Given the description of an element on the screen output the (x, y) to click on. 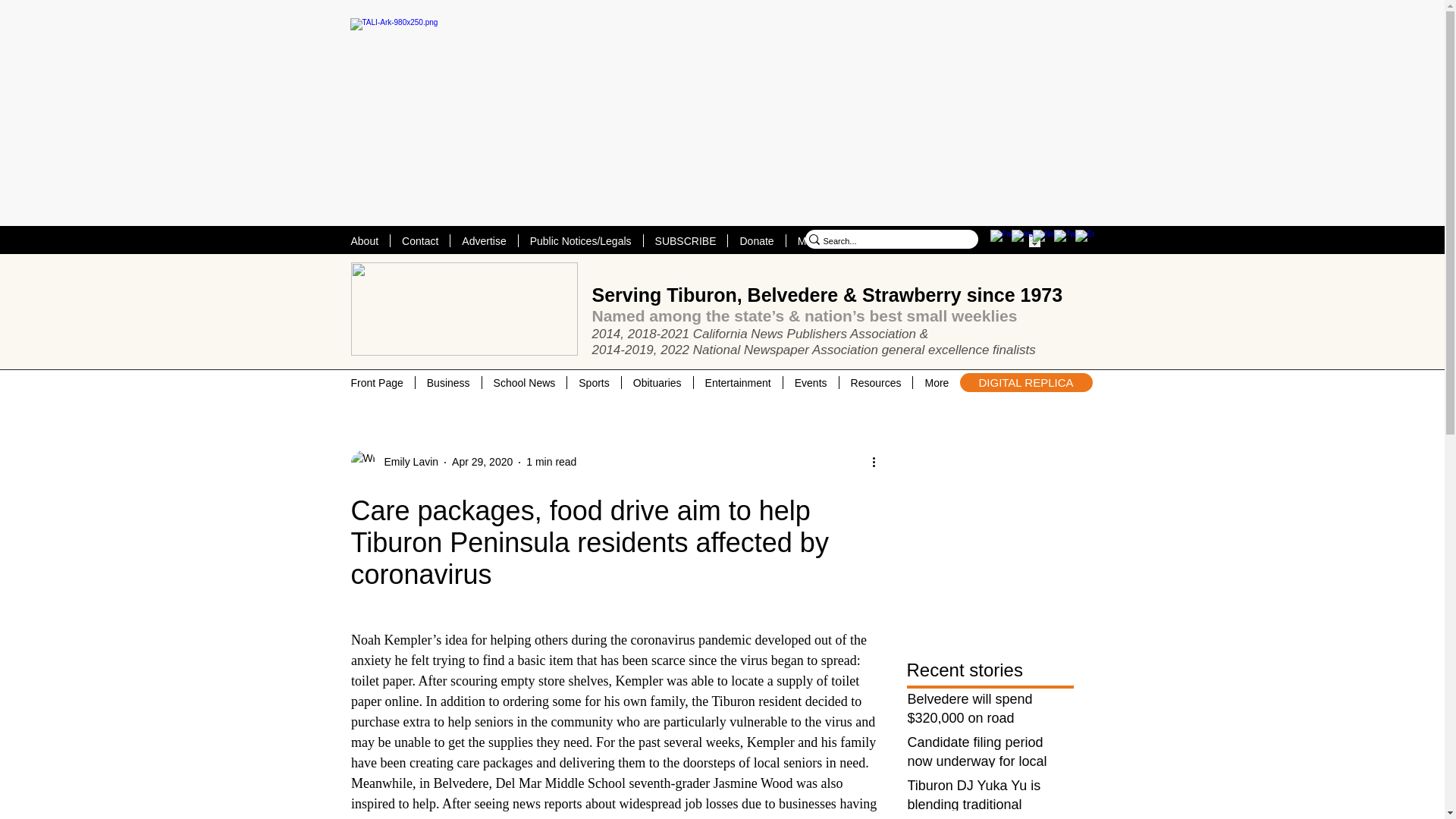
Front Page (376, 382)
Sports (593, 382)
Business (447, 382)
SUBSCRIBE (685, 240)
Donate (755, 240)
1 min read (550, 461)
Emily Lavin (406, 462)
Apr 29, 2020 (481, 461)
School News (524, 382)
Obituaries (657, 382)
Advertise (482, 240)
About (364, 240)
Contact (419, 240)
